Given the description of an element on the screen output the (x, y) to click on. 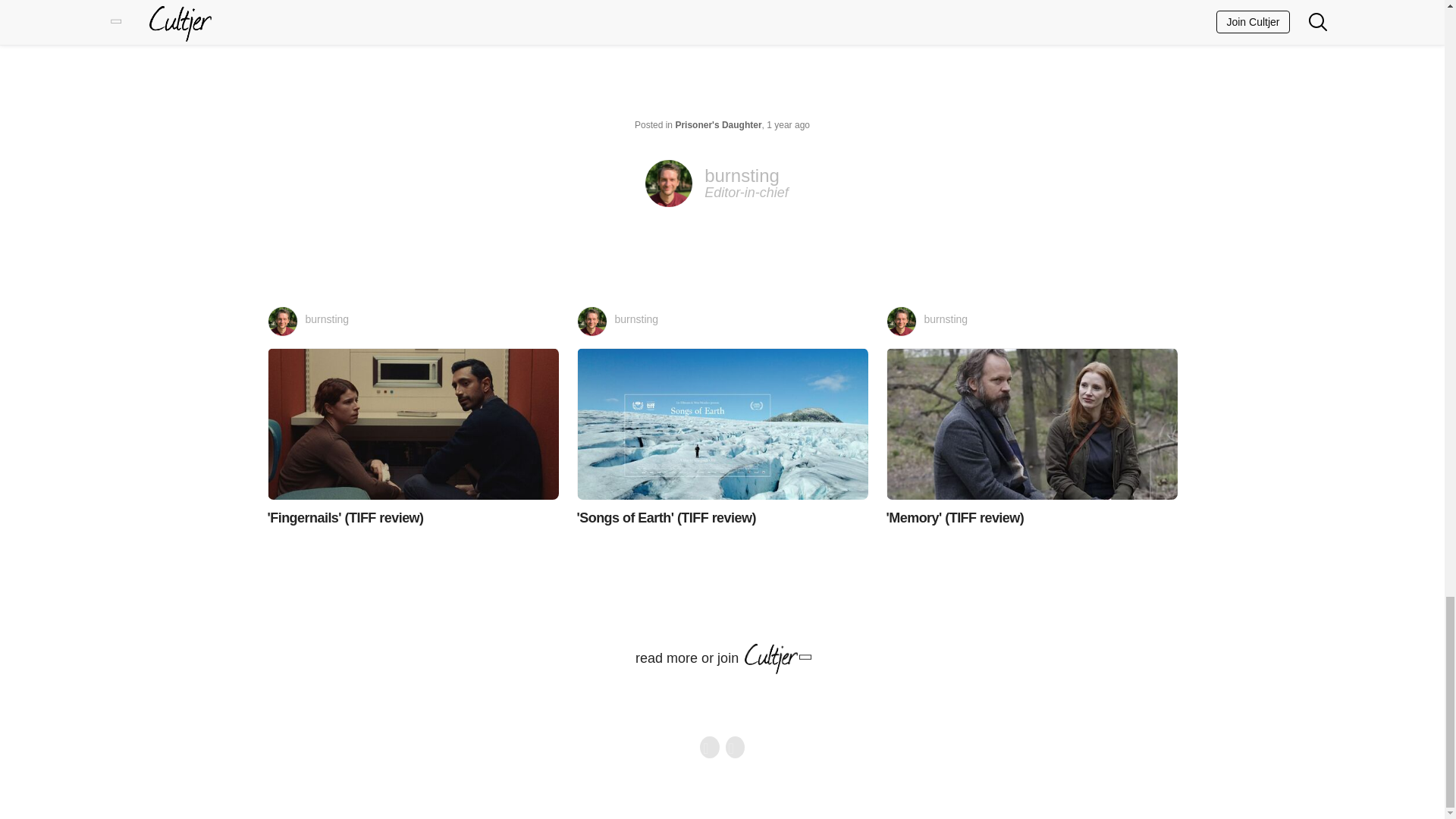
burnsting (721, 321)
burnsting (411, 321)
Prisoner's Daughter (718, 124)
burnsting (1030, 321)
Cutjer (722, 183)
